Given the description of an element on the screen output the (x, y) to click on. 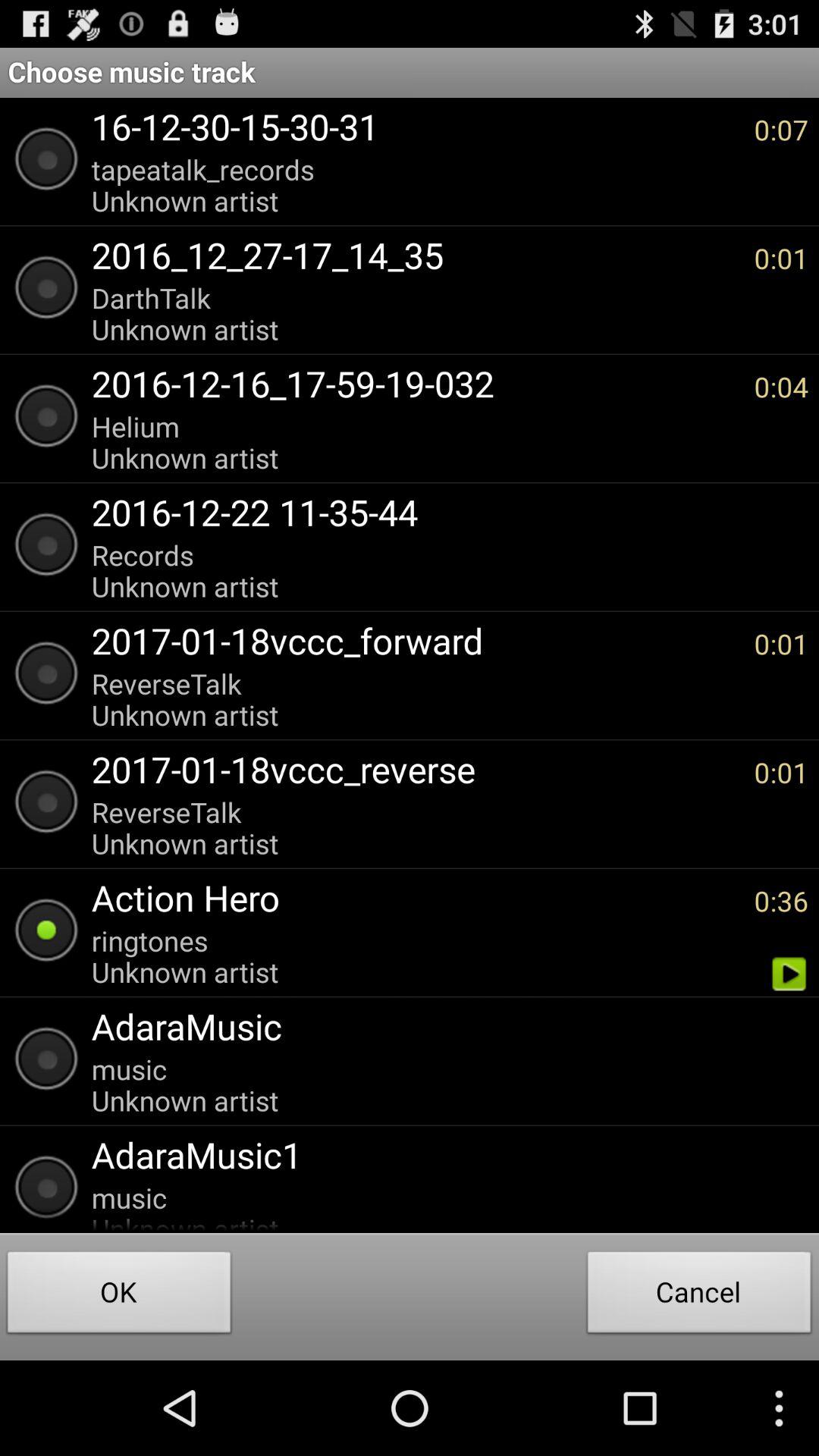
open the icon above the ringtones
unknown artist icon (414, 897)
